Given the description of an element on the screen output the (x, y) to click on. 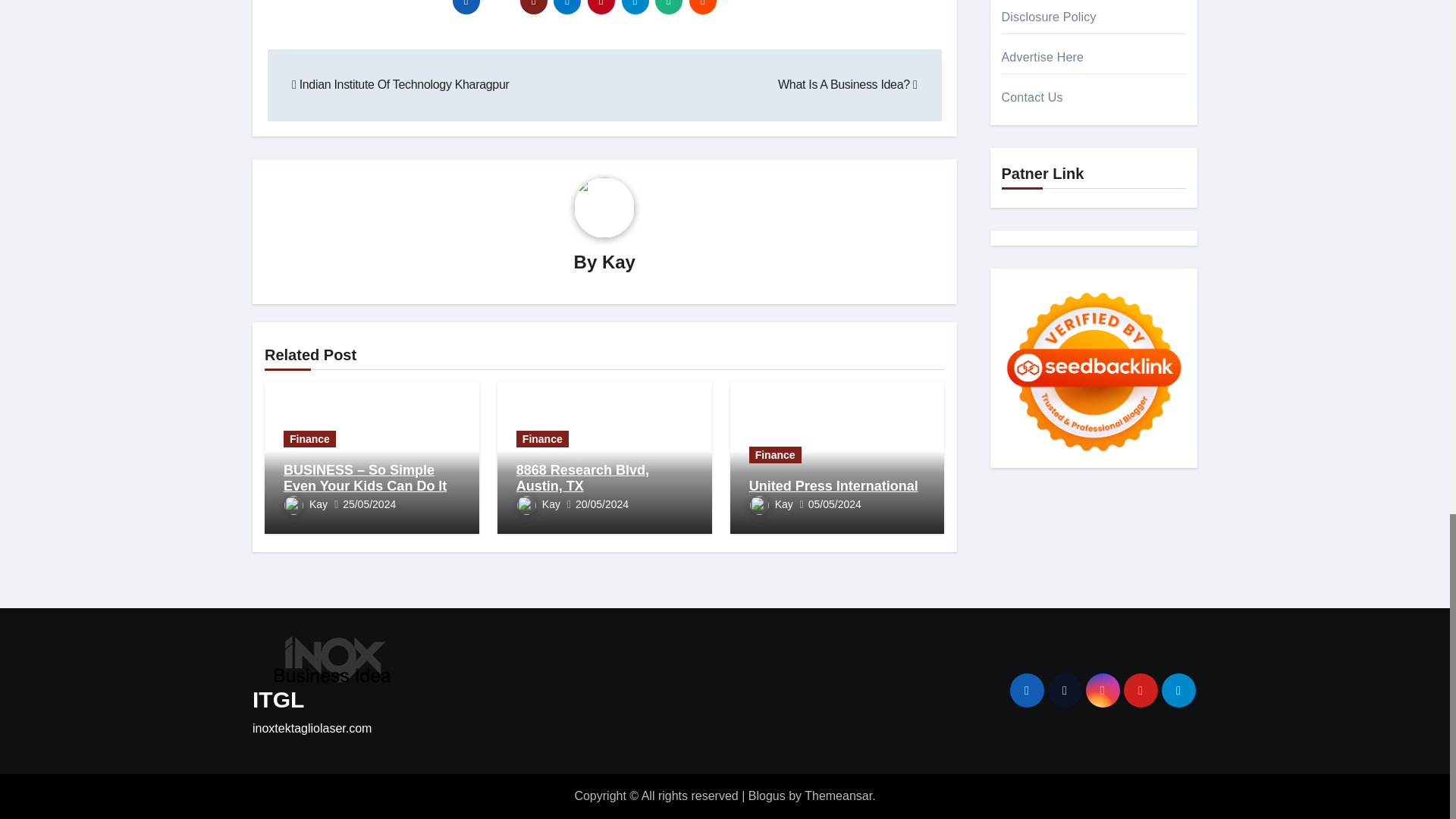
Permalink to: United Press International (833, 485)
Finance (309, 438)
Kay (305, 503)
Finance (542, 438)
8868 Research Blvd, Austin, TX (582, 478)
Permalink to: 8868 Research Blvd, Austin, TX (582, 478)
Kay (618, 261)
What Is A Business Idea? (847, 83)
Indian Institute Of Technology Kharagpur (400, 83)
Seedbacklink (1093, 372)
